Given the description of an element on the screen output the (x, y) to click on. 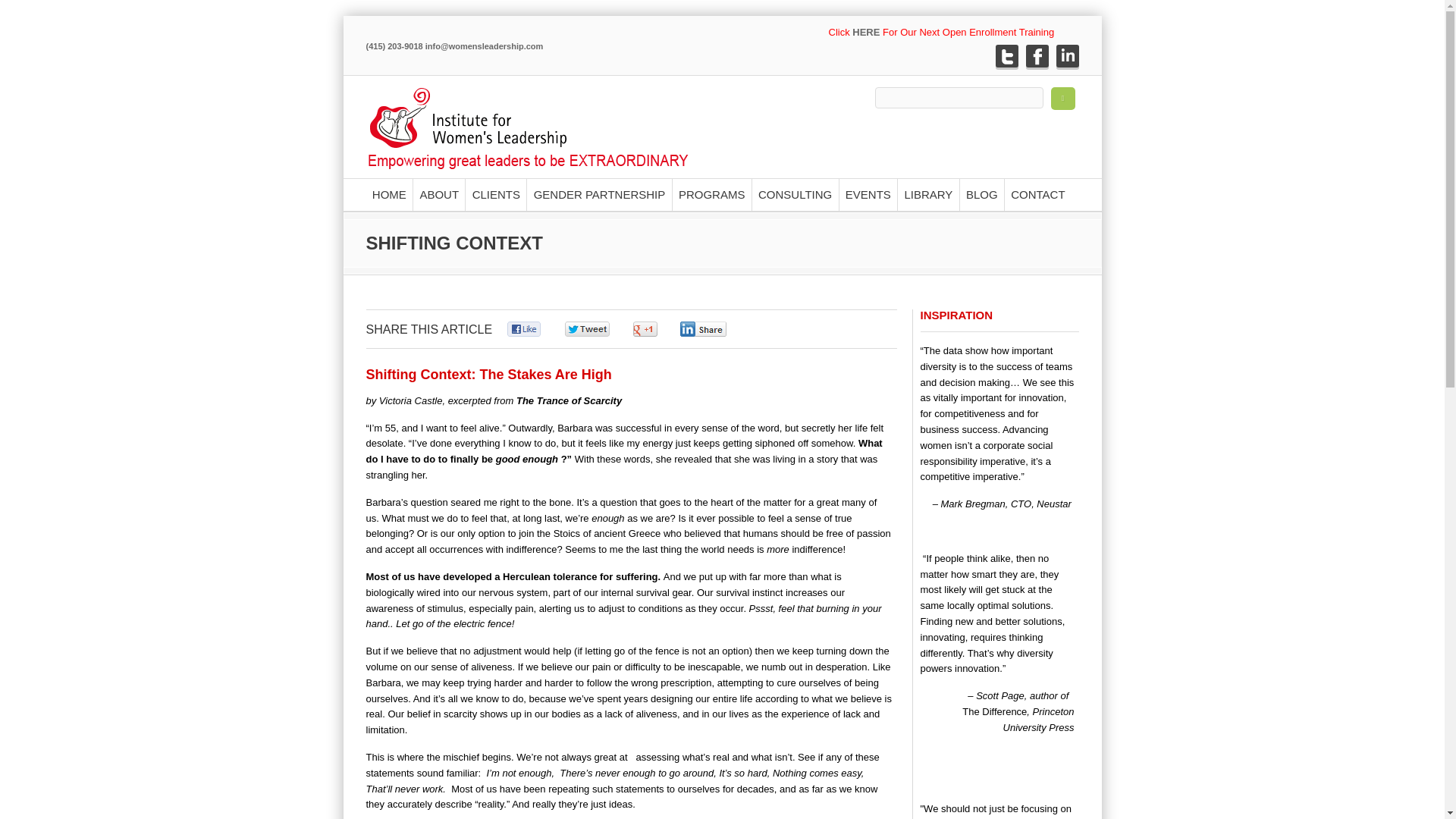
Twitter (1005, 56)
LinkedIn (1066, 56)
Facebook (1036, 56)
HERE (865, 31)
Facebook (1036, 56)
EVENTS (868, 195)
GENDER PARTNERSHIP (598, 195)
Twitter (1005, 56)
ABOUT (438, 195)
Be the first one to tweet this article! (603, 329)
PROGRAMS (711, 195)
LIBRARY (927, 195)
CLIENTS (494, 195)
HOME (388, 195)
CONSULTING (794, 195)
